Given the description of an element on the screen output the (x, y) to click on. 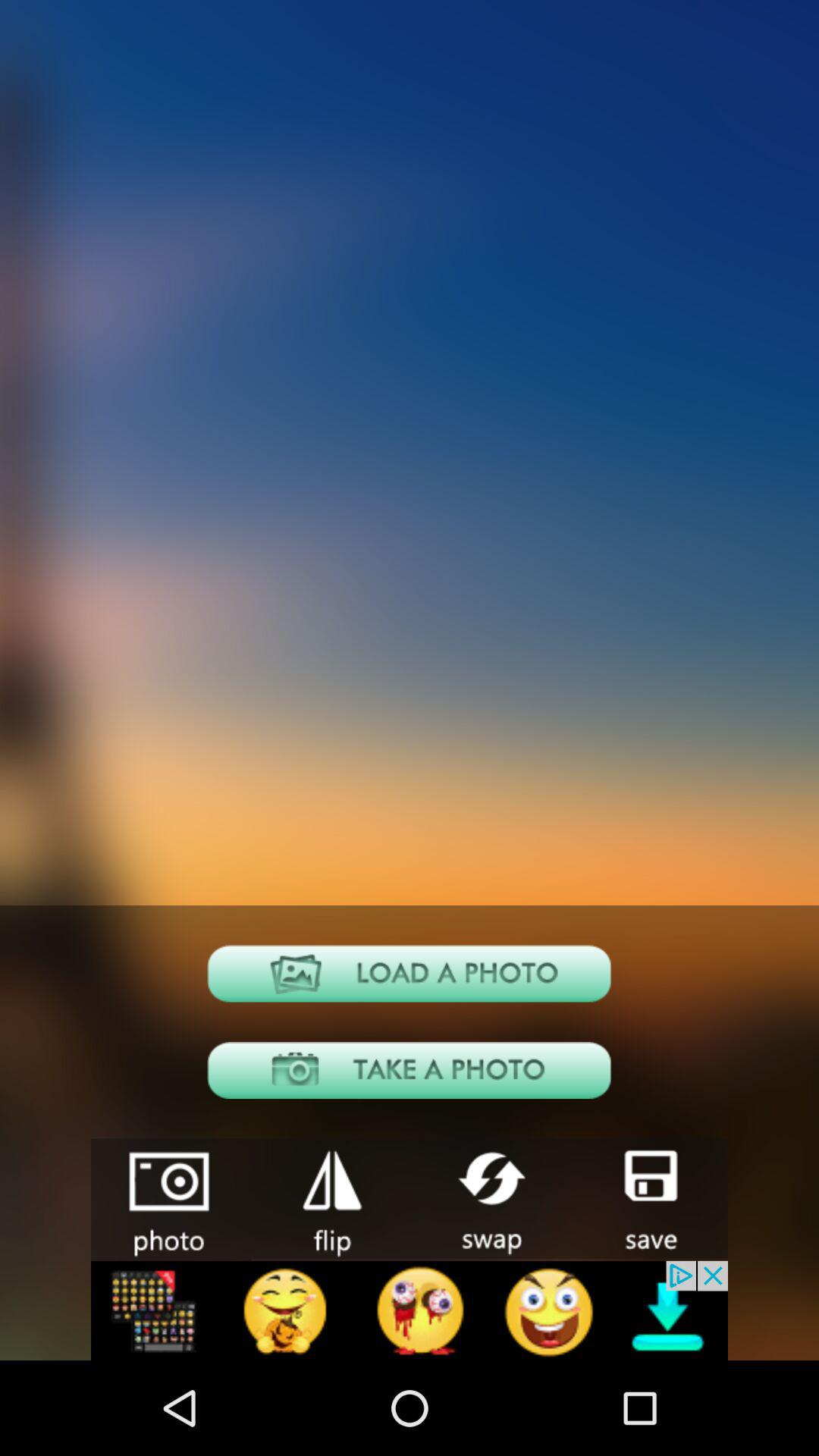
load a photo (409, 973)
